Given the description of an element on the screen output the (x, y) to click on. 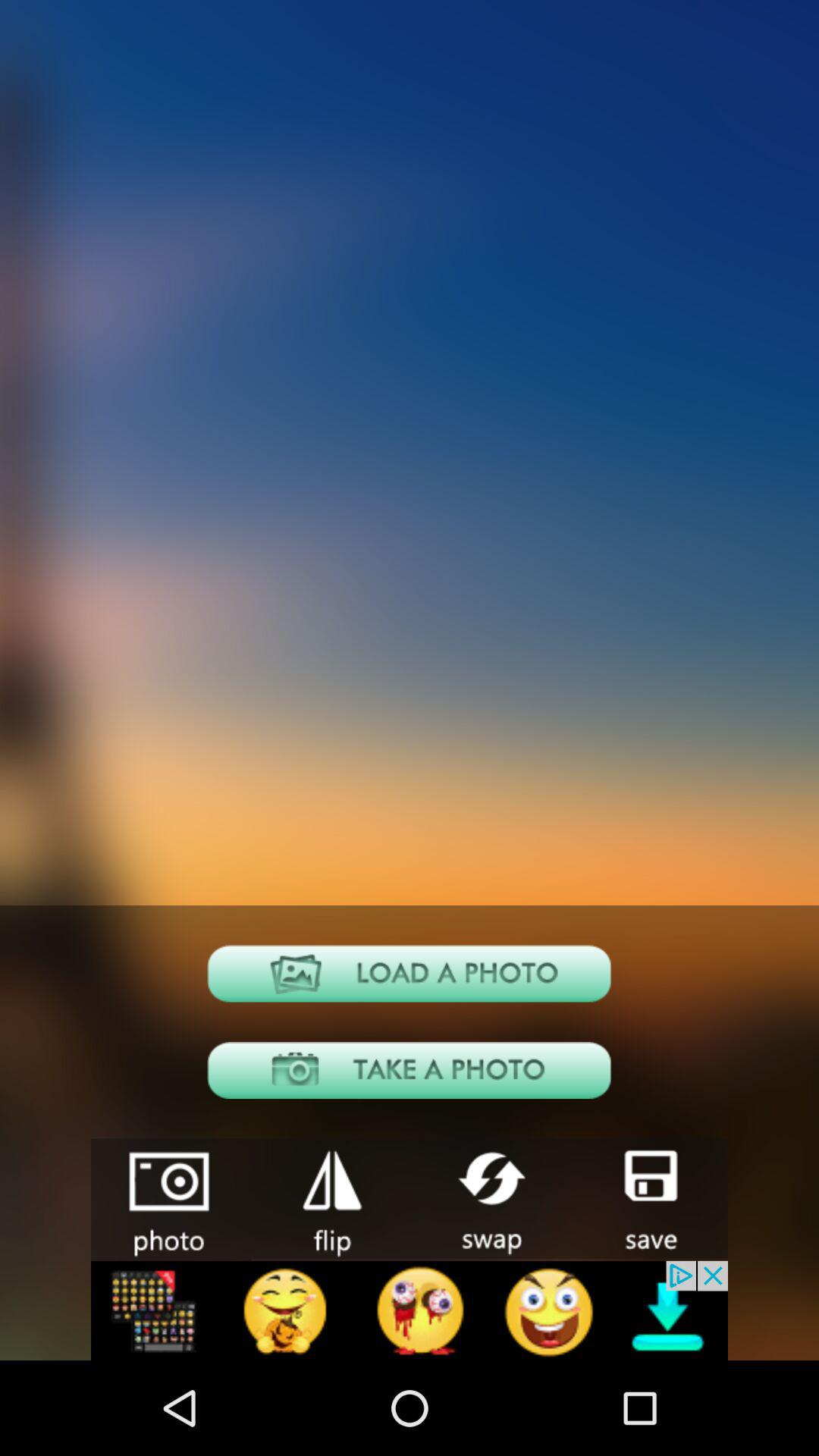
load a photo (409, 973)
